Given the description of an element on the screen output the (x, y) to click on. 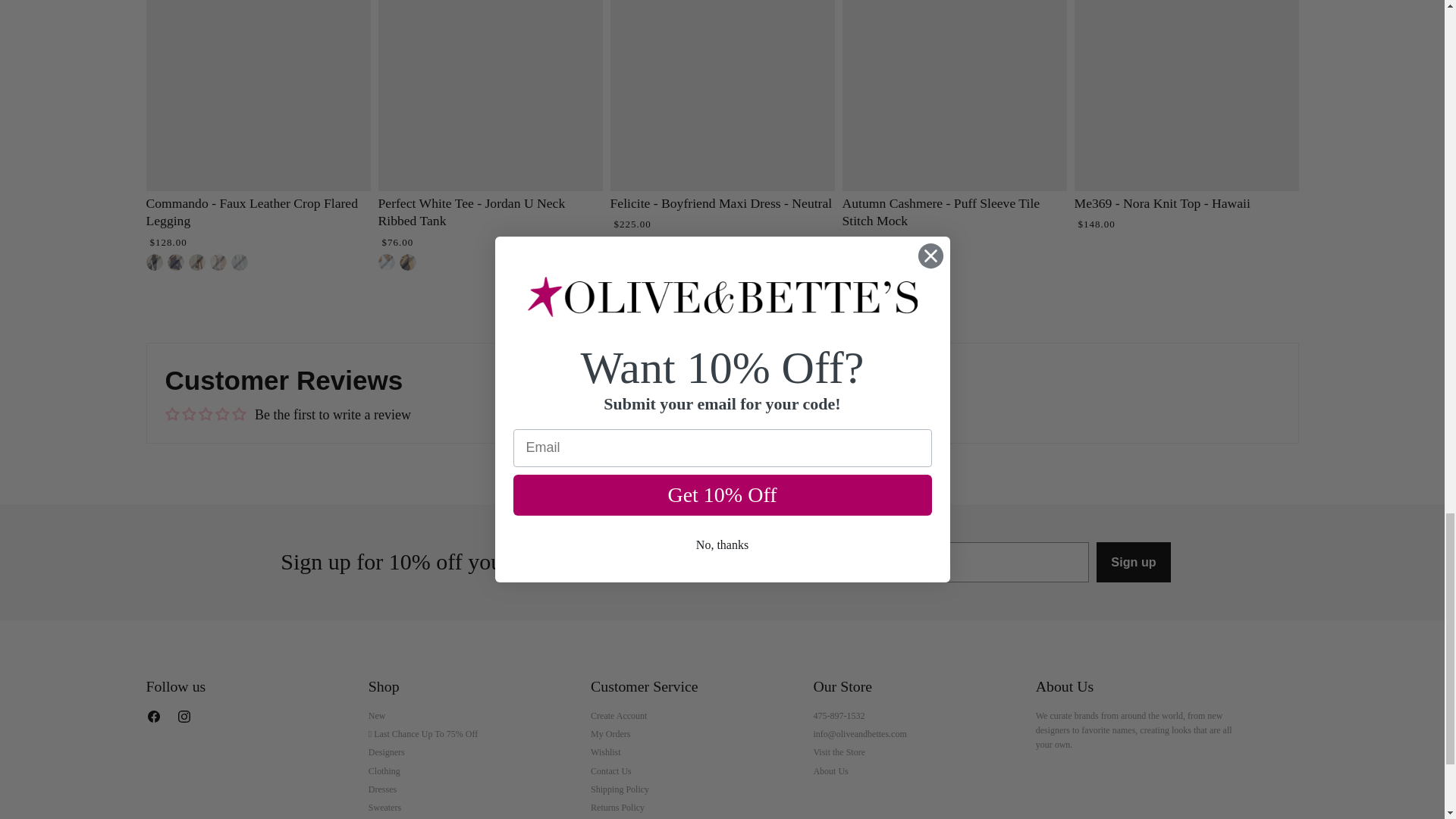
Facebook (156, 719)
Instagram (186, 719)
